Given the description of an element on the screen output the (x, y) to click on. 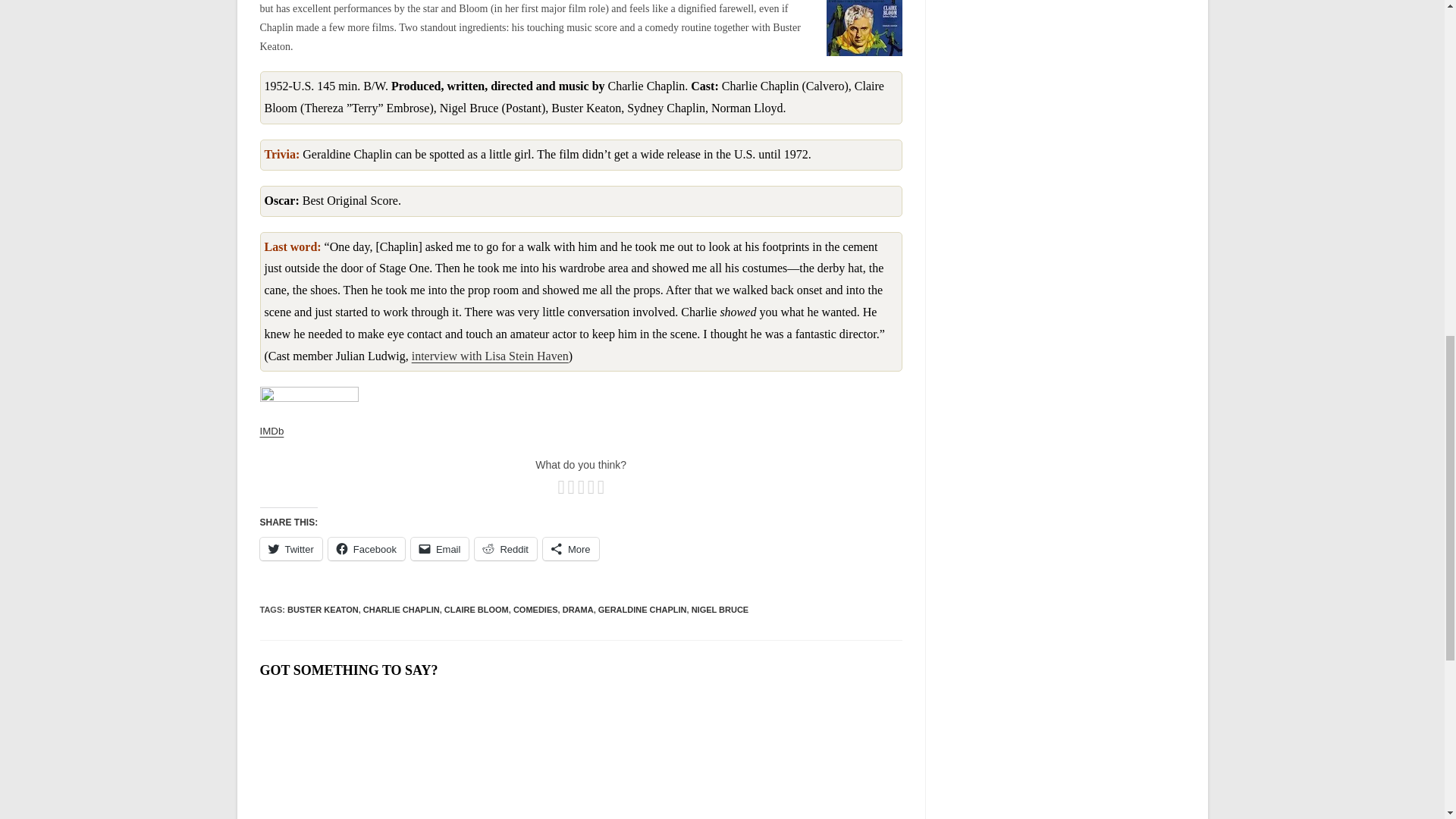
Click to share on Facebook (366, 548)
Click to share on Twitter (290, 548)
Click to email a link to a friend (439, 548)
Click to share on Reddit (505, 548)
Comment Form (580, 755)
